Given the description of an element on the screen output the (x, y) to click on. 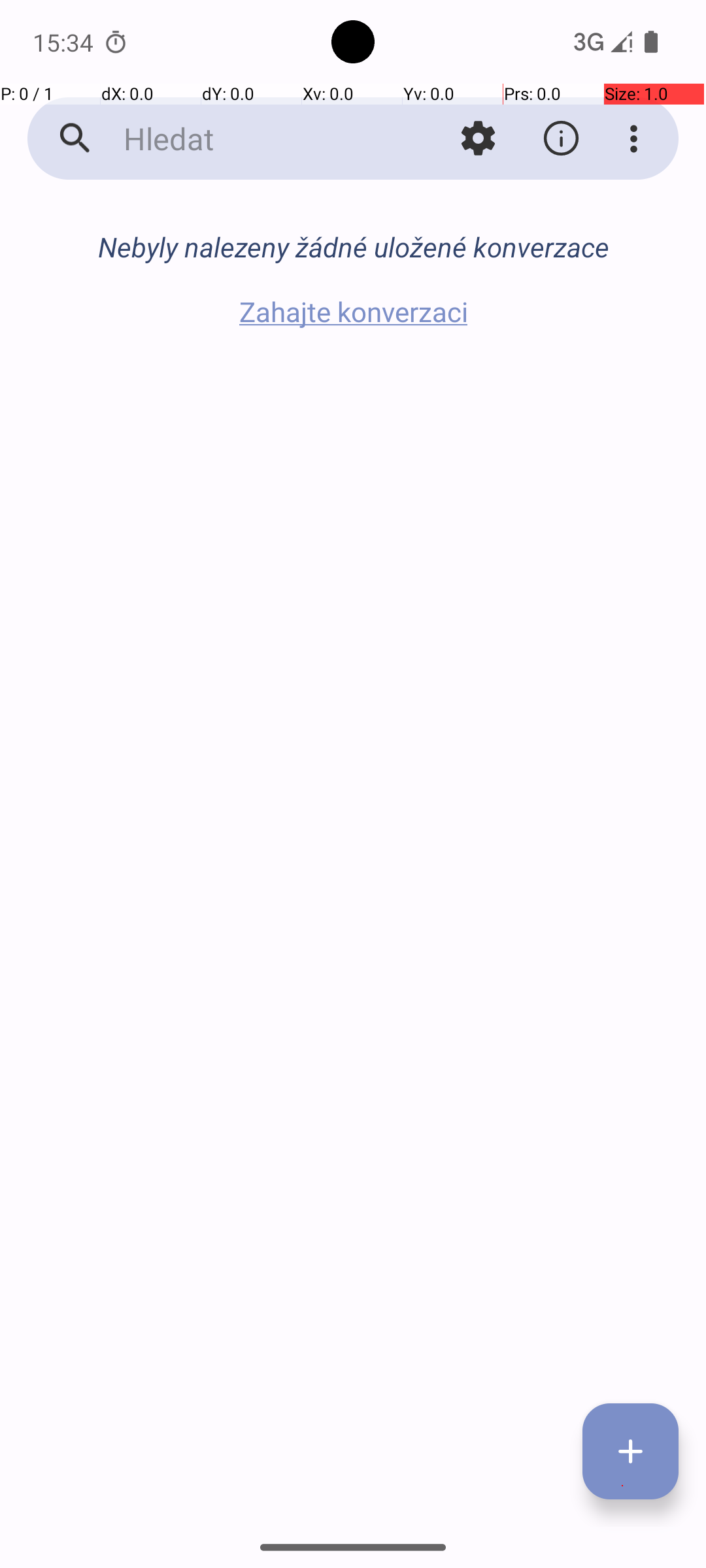
O aplikaci Element type: android.widget.Button (560, 138)
Nebyly nalezeny žádné uložené konverzace Element type: android.widget.TextView (353, 246)
Zahajte konverzaci Element type: android.widget.TextView (352, 311)
